Given the description of an element on the screen output the (x, y) to click on. 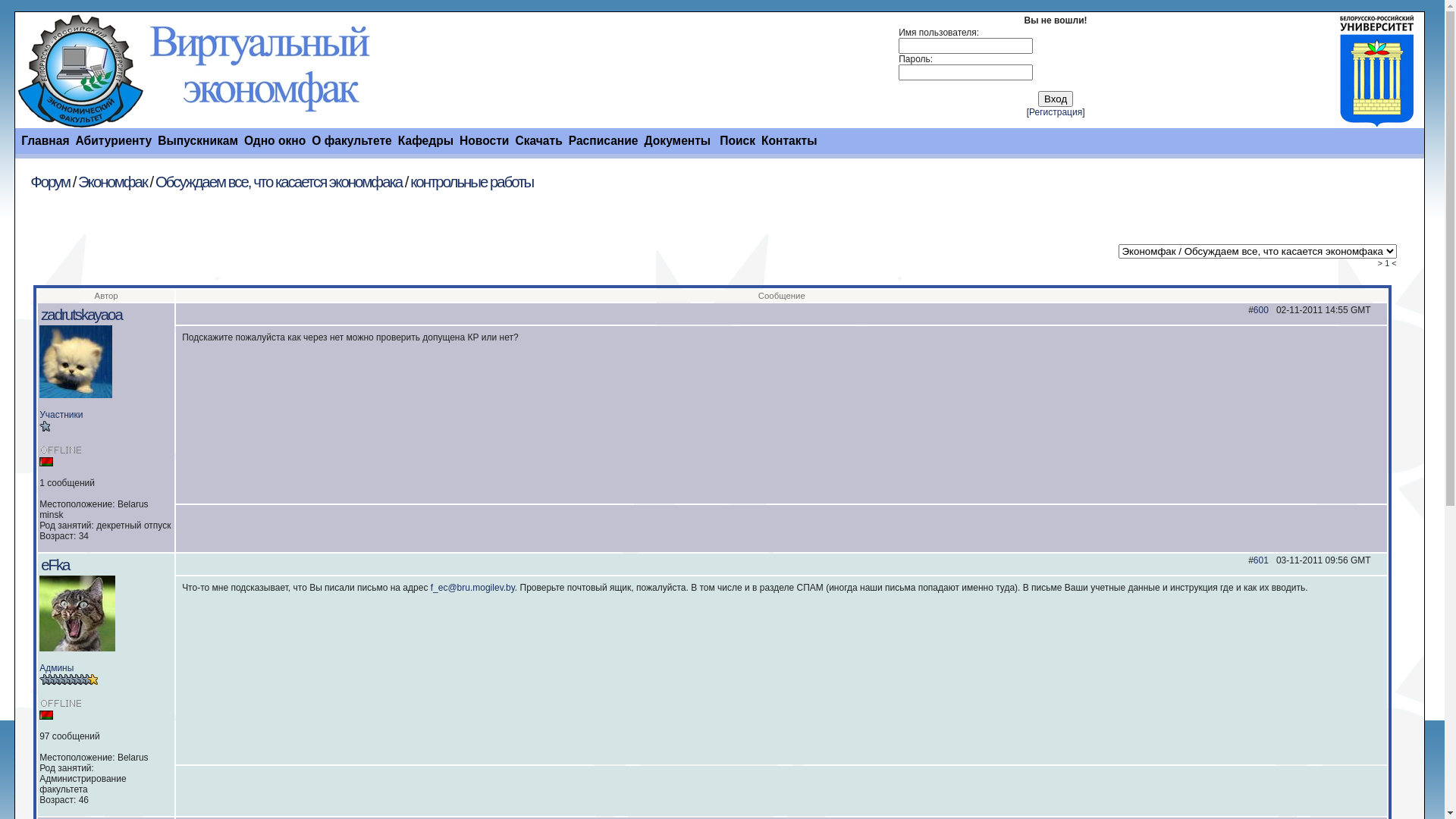
600 Element type: text (1260, 309)
1 Element type: text (1386, 262)
f_ec@bru.mogilev.by. Element type: text (473, 587)
eFka Element type: text (54, 564)
601 Element type: text (1260, 560)
zadrutskayaoa Element type: text (81, 314)
